Given the description of an element on the screen output the (x, y) to click on. 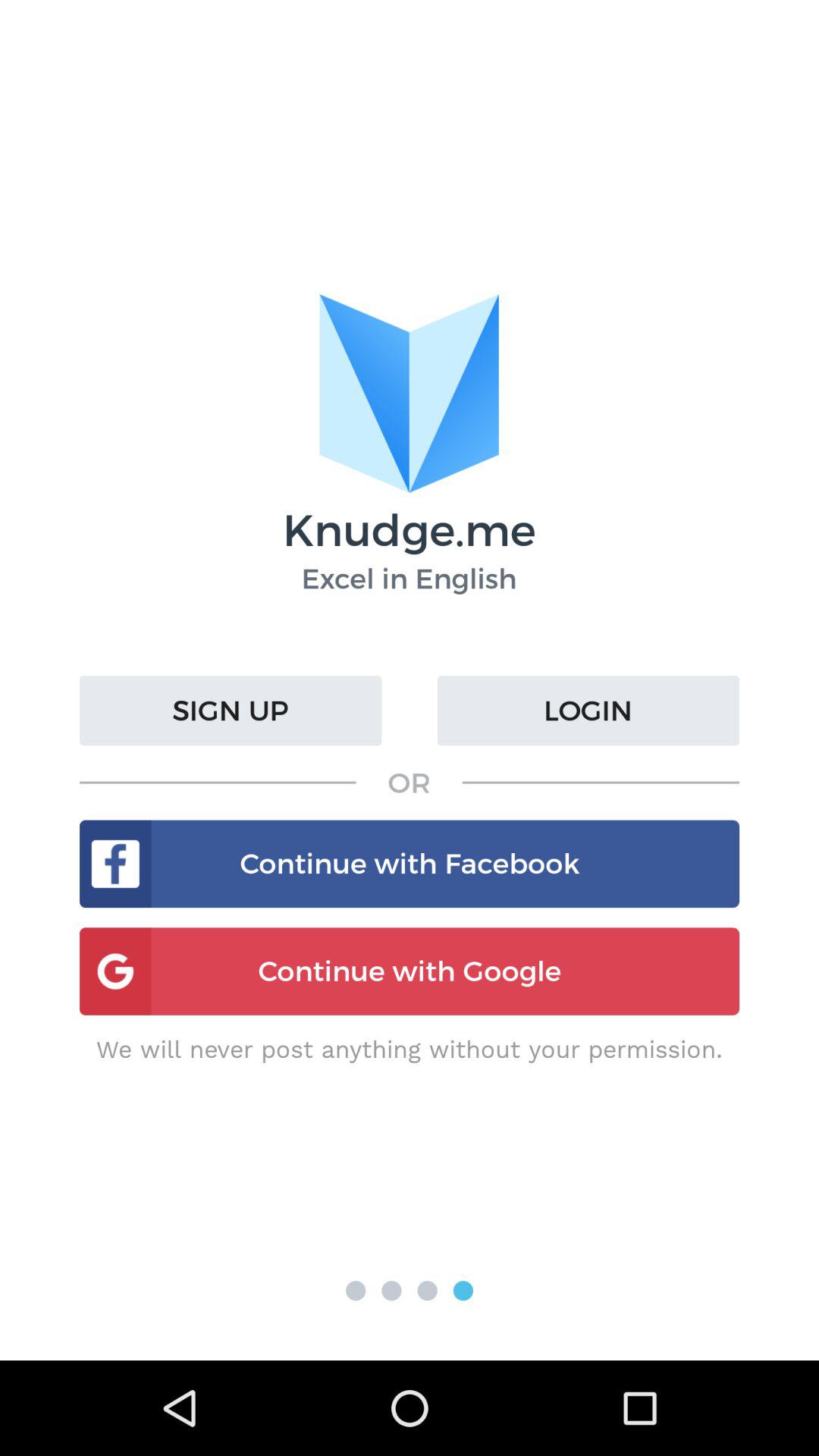
press icon next to sign up item (588, 710)
